Given the description of an element on the screen output the (x, y) to click on. 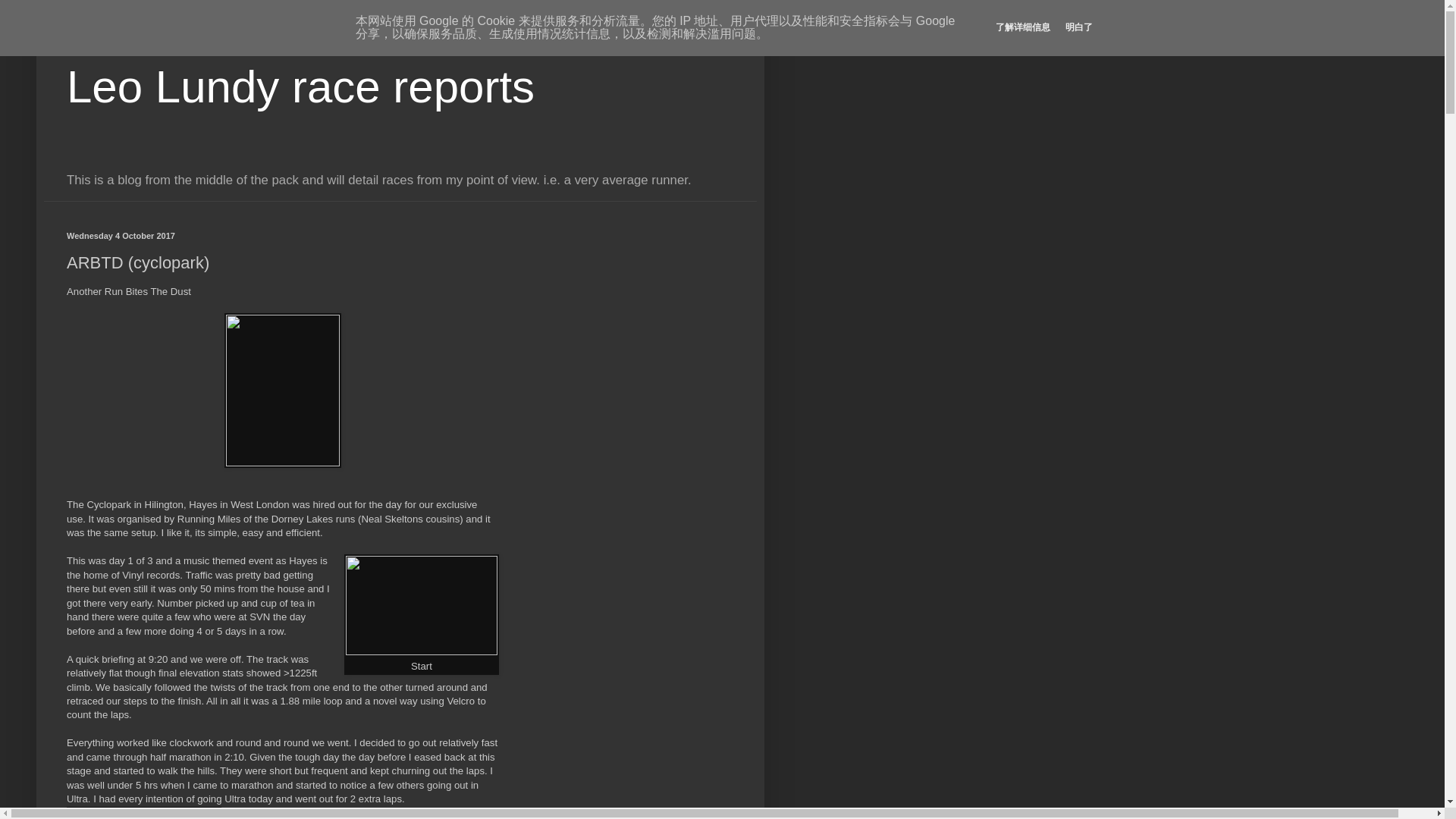
Leo Lundy race reports (300, 86)
